Given the description of an element on the screen output the (x, y) to click on. 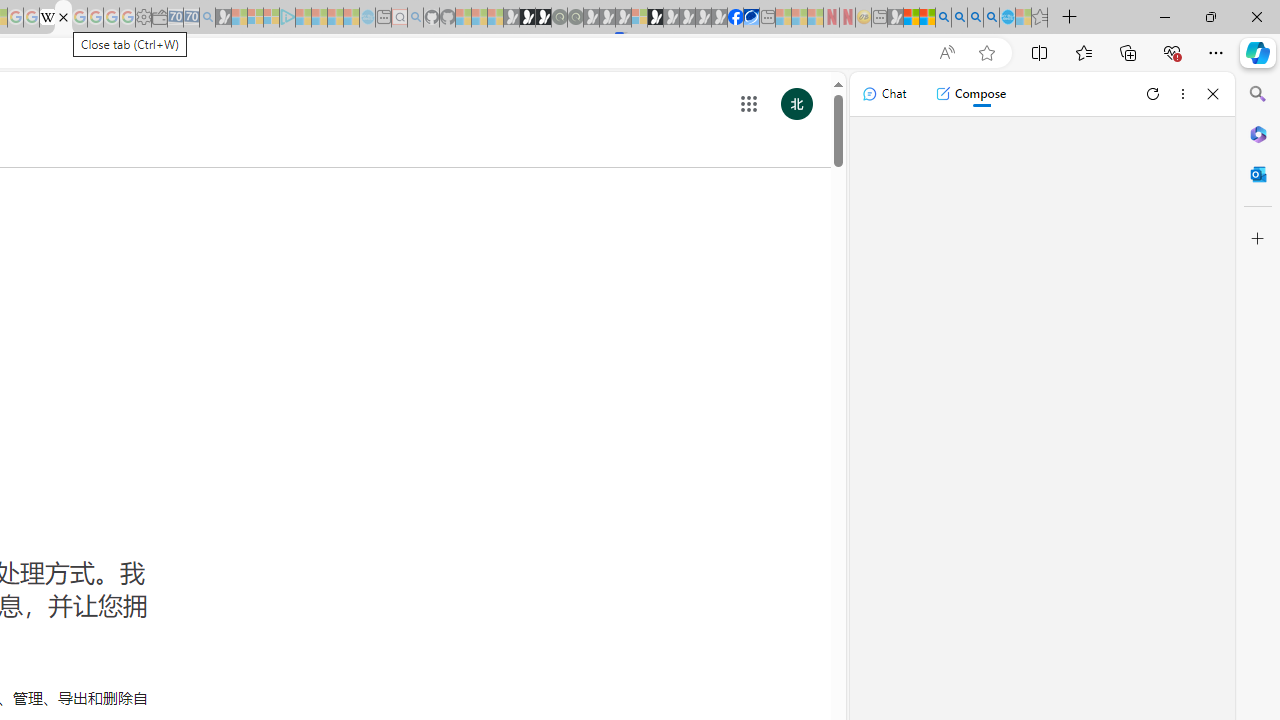
Wallet - Sleeping (159, 17)
Sign in to your account - Sleeping (639, 17)
Google Chrome Internet Browser Download - Search Images (991, 17)
Services - Maintenance | Sky Blue Bikes - Sky Blue Bikes (1007, 17)
AirNow.gov (751, 17)
Microsoft Start Gaming - Sleeping (223, 17)
